Given the description of an element on the screen output the (x, y) to click on. 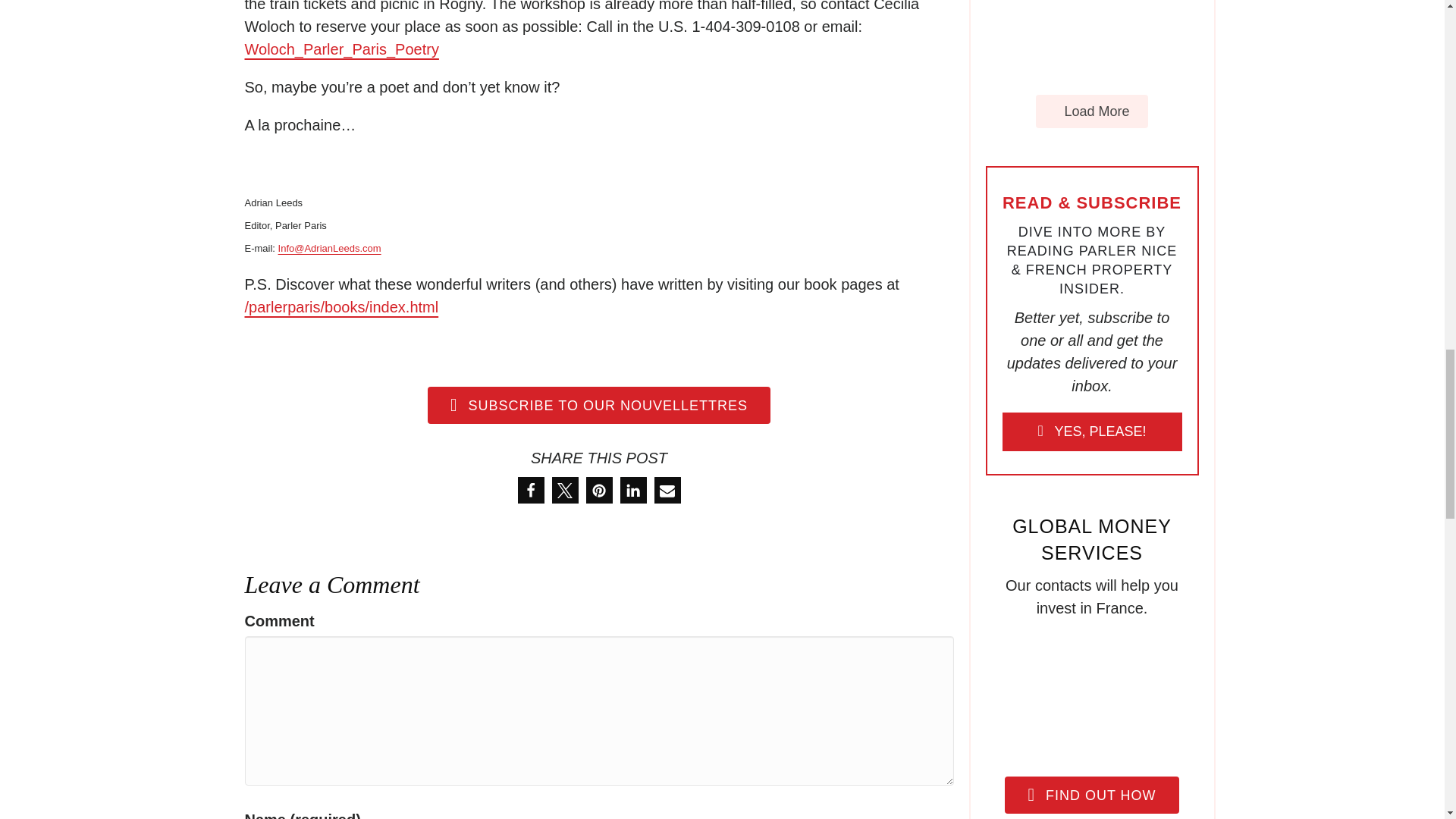
Pin it on Pinterest (598, 489)
Share on LinkedIn (633, 489)
Share on X (564, 489)
Share on Facebook (529, 489)
Send by email (666, 489)
